Given the description of an element on the screen output the (x, y) to click on. 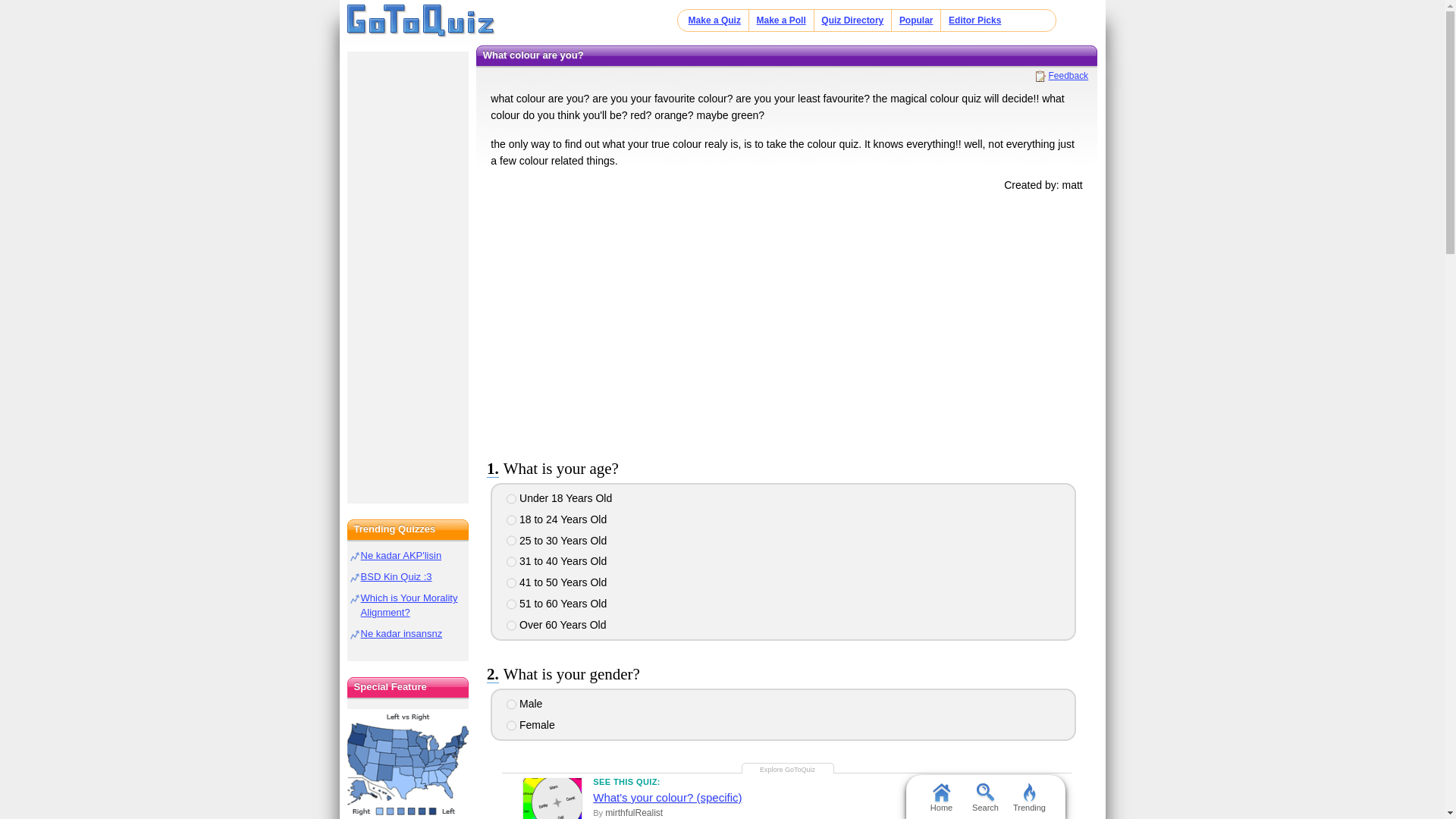
1 (511, 498)
Make a Poll (780, 20)
4 (511, 561)
Feedback (1061, 75)
Trending (1029, 796)
Create a Quiz (1002, 809)
1 (511, 704)
6 (511, 603)
Quiz Directory (852, 20)
Make a Quiz (714, 20)
Home (421, 20)
Popular (916, 20)
Which is Your Morality Alignment? (409, 605)
5 (511, 583)
Advertisement (786, 323)
